Given the description of an element on the screen output the (x, y) to click on. 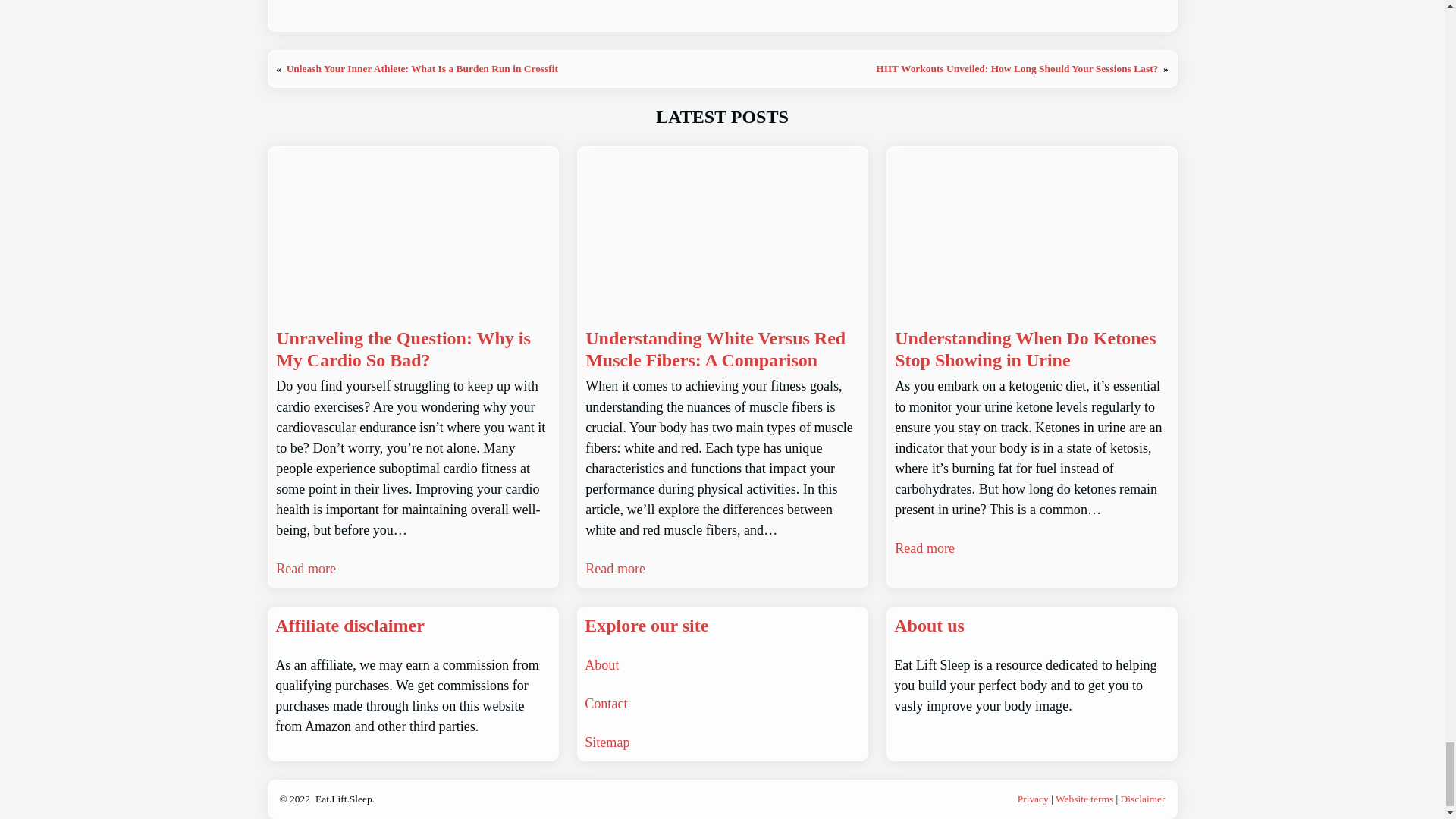
About (601, 664)
Unraveling the Question: Why is My Cardio So Bad? (413, 349)
Eat.Lift.Sleep. (344, 798)
Contact (606, 703)
Read more (925, 548)
Website terms (1084, 798)
Unleash Your Inner Athlete: What Is a Burden Run in Crossfit (421, 68)
Understanding White Versus Red Muscle Fibers: A Comparison (722, 349)
Sitemap (606, 742)
HIIT Workouts Unveiled: How Long Should Your Sessions Last? (1016, 68)
Read more (306, 568)
Privacy (1032, 798)
Understanding When Do Ketones Stop Showing in Urine (1032, 349)
Read more (615, 568)
Disclaimer (1143, 798)
